Given the description of an element on the screen output the (x, y) to click on. 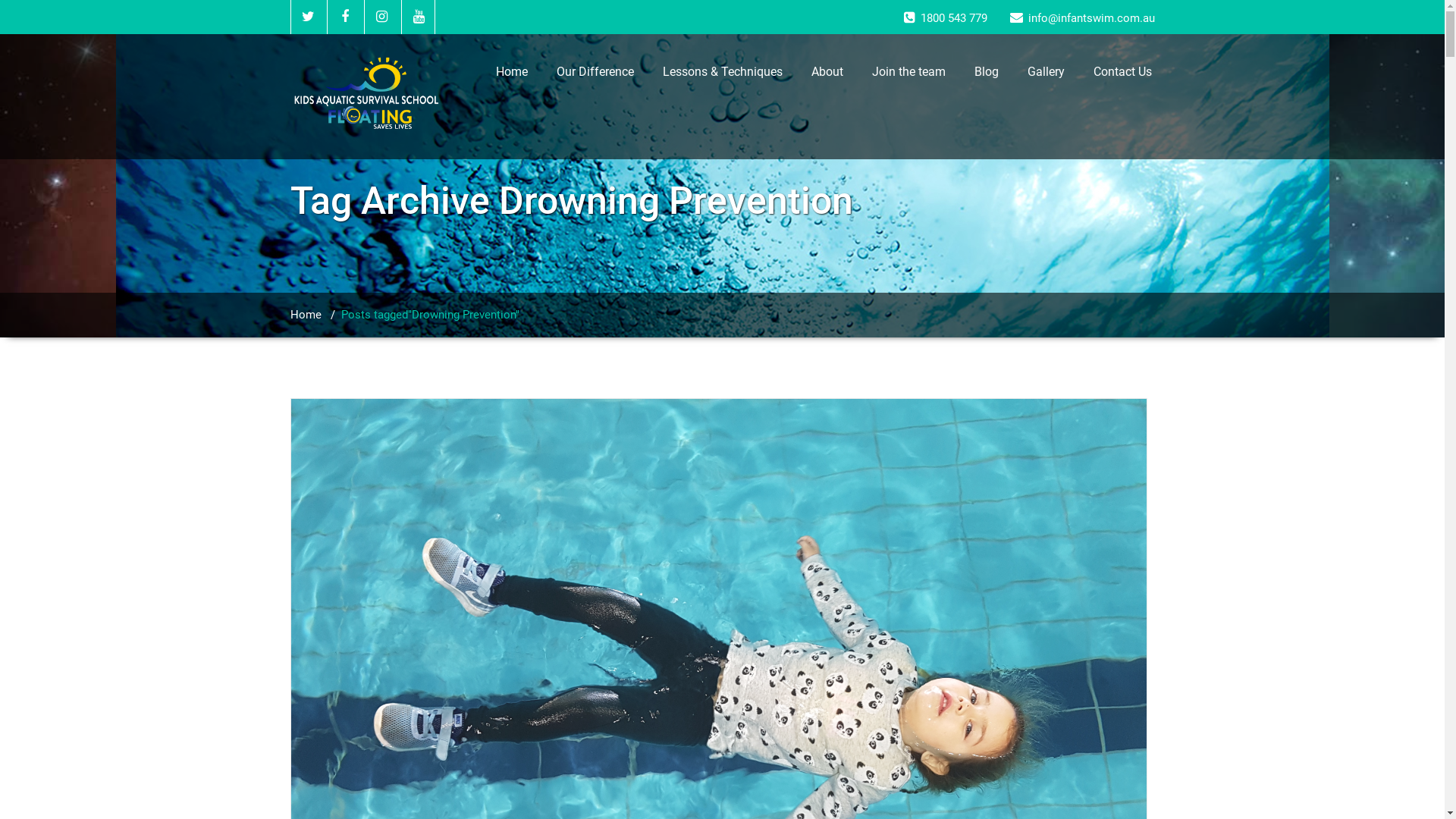
Our Difference Element type: text (594, 71)
About Element type: text (826, 71)
Lessons & Techniques Element type: text (721, 71)
Blog Element type: text (986, 71)
Join the team Element type: text (907, 71)
Contact Us Element type: text (1121, 71)
Home Element type: text (510, 71)
Home Element type: text (304, 314)
Gallery Element type: text (1046, 71)
